Given the description of an element on the screen output the (x, y) to click on. 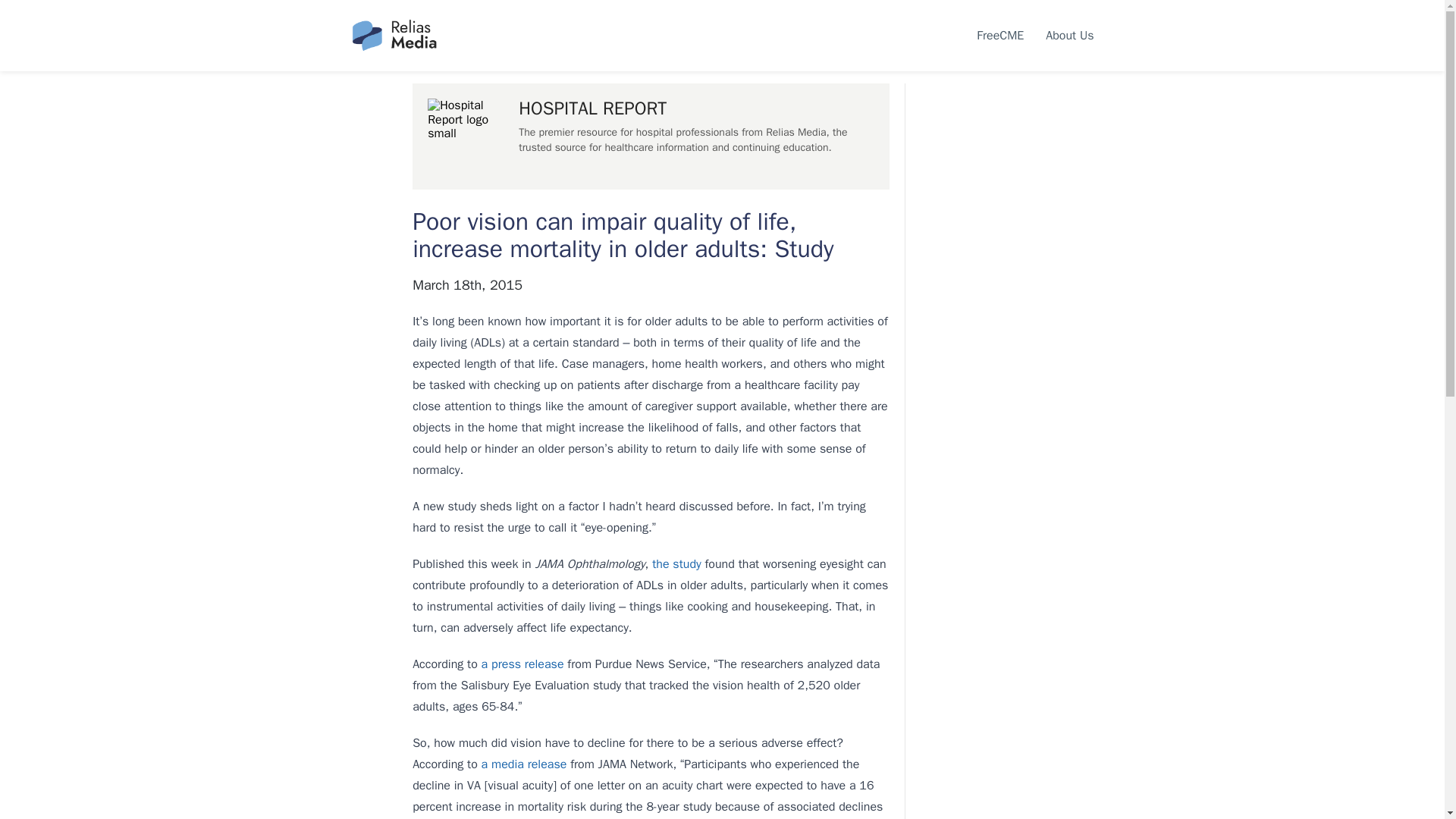
About Us (1069, 35)
the study (676, 563)
a press release (522, 663)
a media release (524, 764)
FreeCME (999, 35)
